Given the description of an element on the screen output the (x, y) to click on. 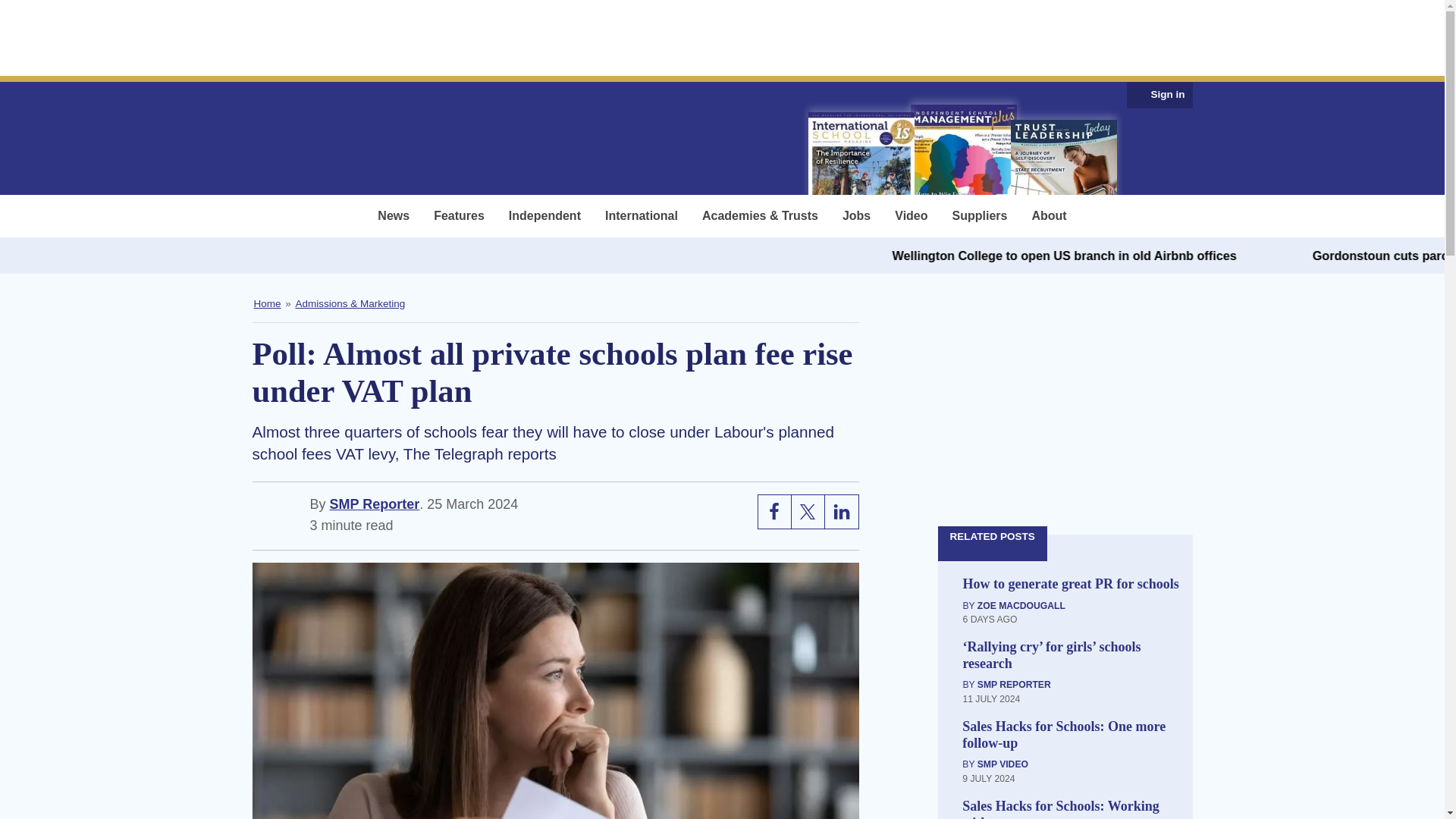
Share on LinkedIn (842, 511)
Sign in (1168, 94)
International (641, 215)
Share on Facebook (775, 511)
Features (458, 215)
Independent (544, 215)
Share on Twitter (808, 511)
